Given the description of an element on the screen output the (x, y) to click on. 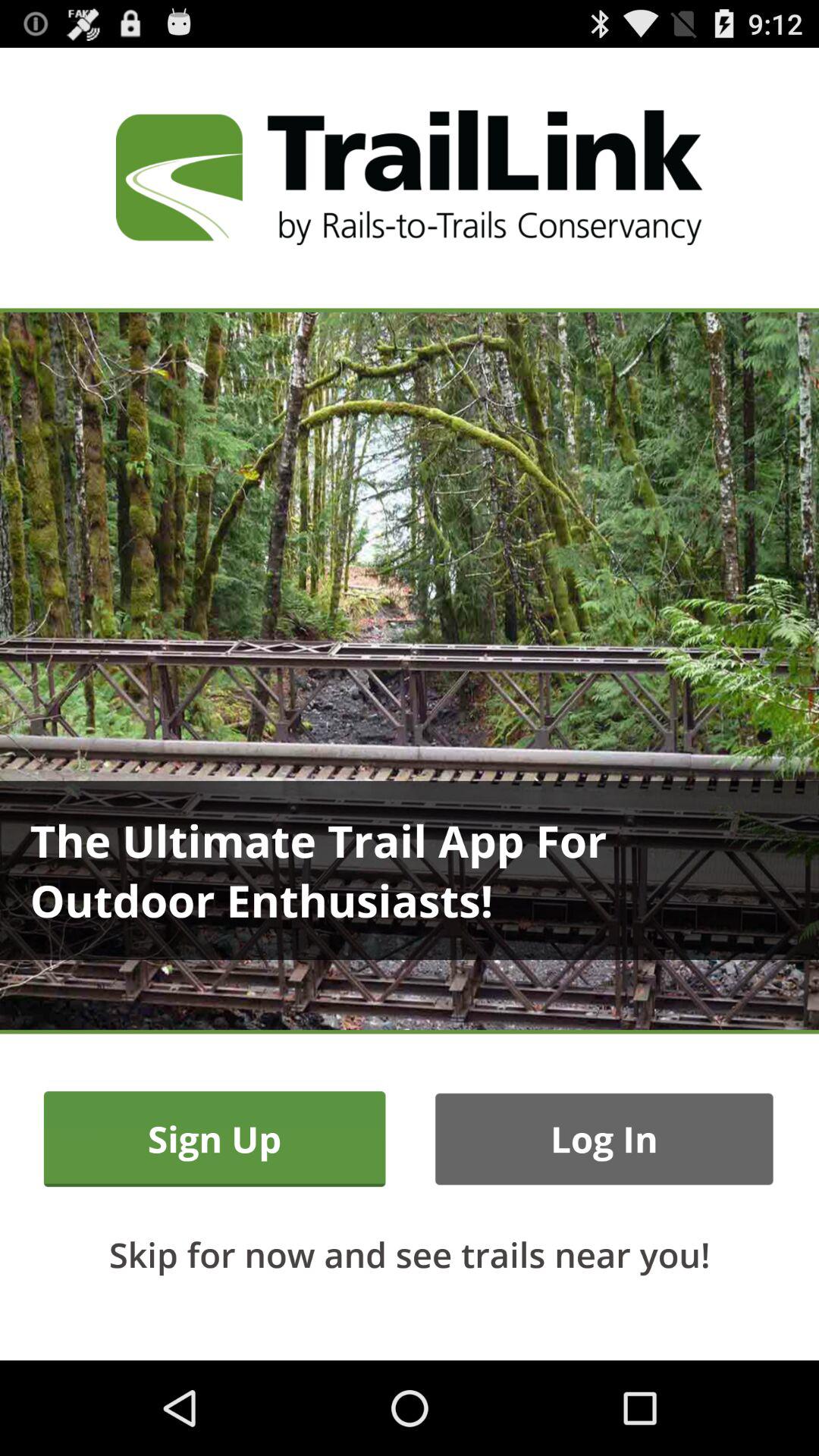
scroll to the sign up item (214, 1138)
